Given the description of an element on the screen output the (x, y) to click on. 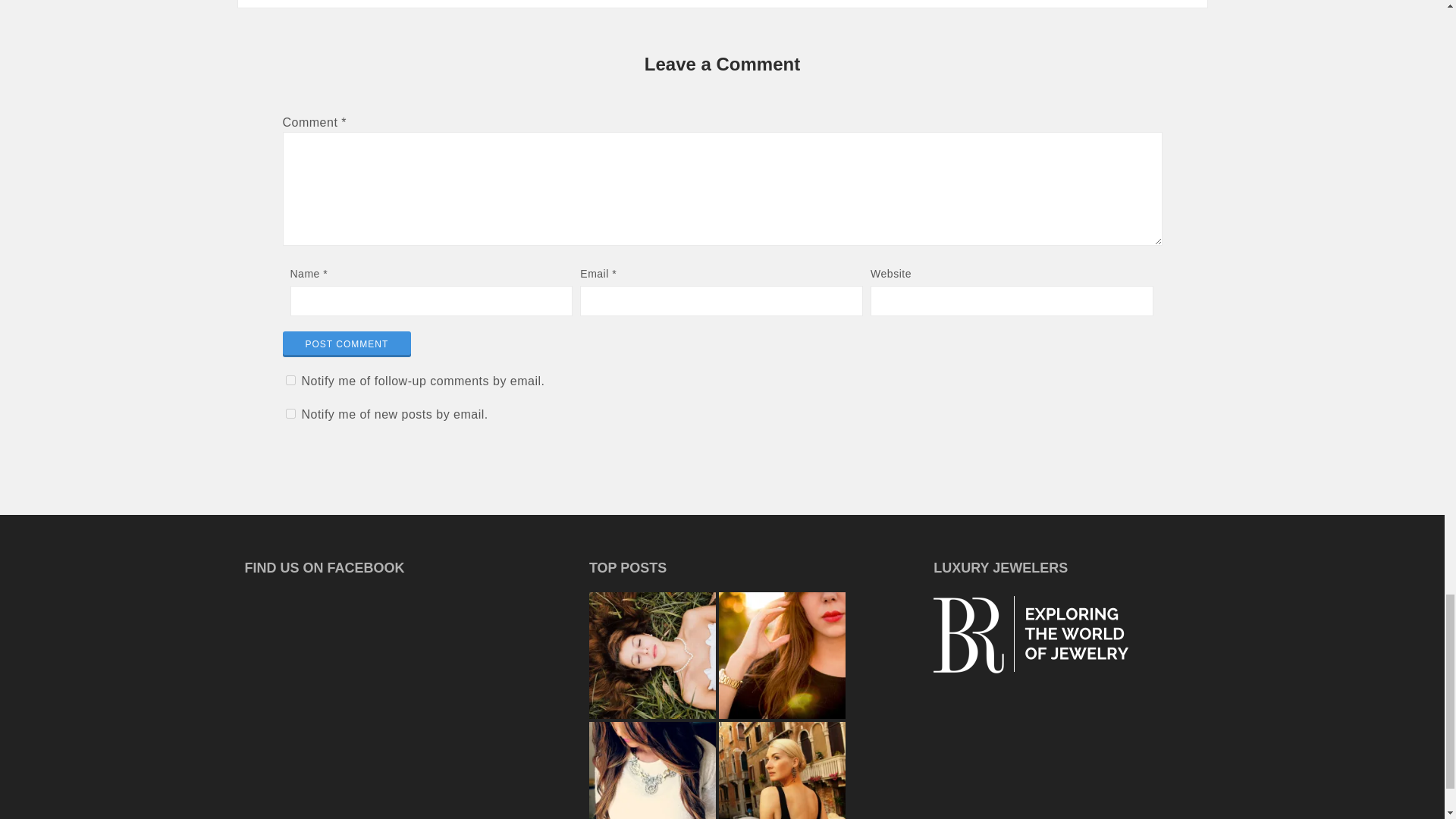
Types of Gold and How to Pair Them (782, 655)
subscribe (290, 379)
Understanding Your Engagement Ring Dream Meaning (652, 655)
subscribe (290, 413)
Post Comment (346, 344)
